Given the description of an element on the screen output the (x, y) to click on. 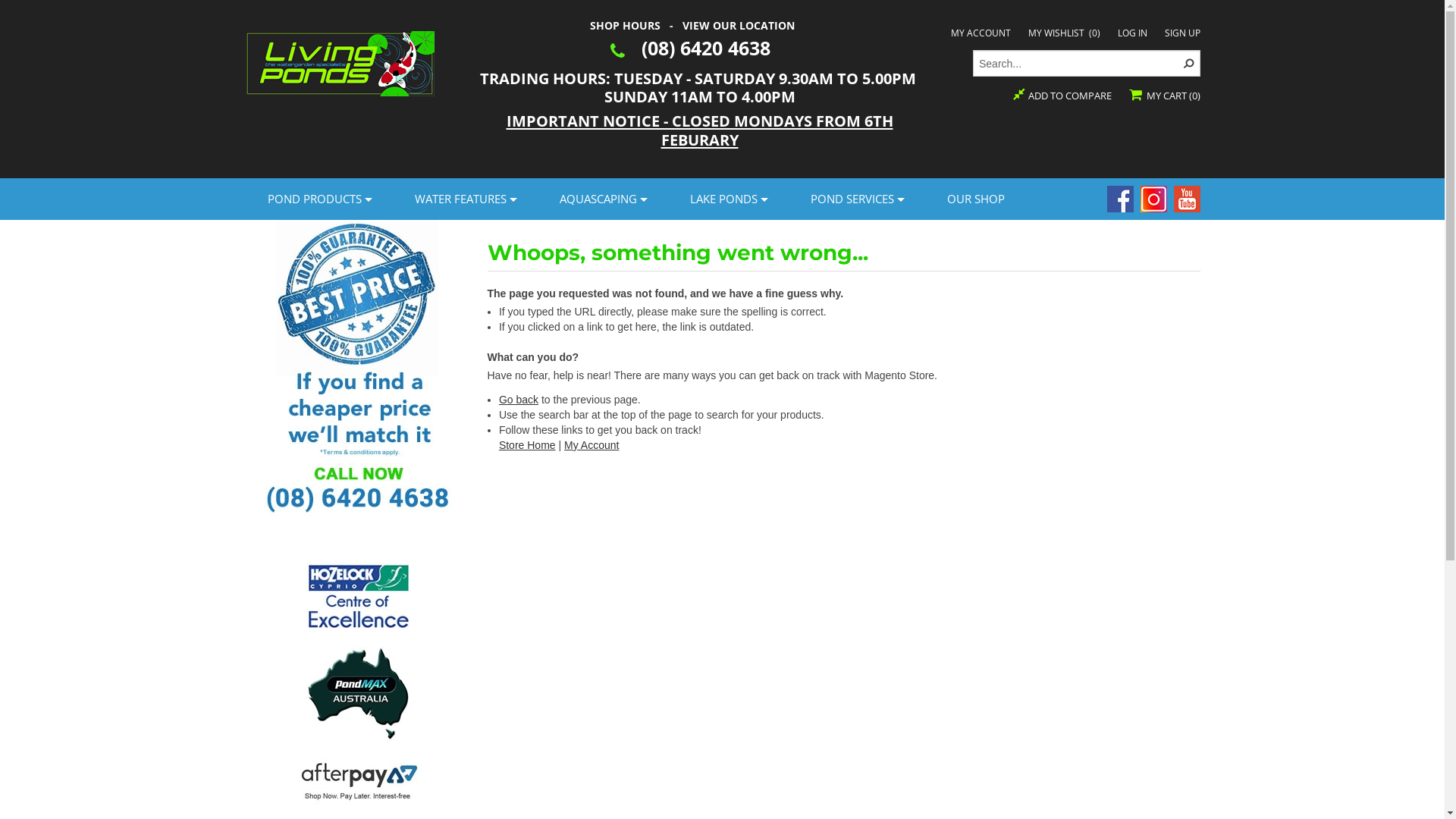
Living Ponds, Perth logo Element type: hover (338, 61)
MY ACCOUNT Element type: text (980, 32)
(08) 6420 4638 Element type: text (705, 47)
Go back Element type: text (518, 399)
OUR SHOP Element type: text (974, 198)
VIEW OUR LOCATION Element type: text (738, 25)
ADD TO COMPARE Element type: text (1062, 95)
Store Home Element type: text (526, 445)
AQUASCAPING Element type: text (601, 198)
MY WISHLIST  (0) Element type: text (1064, 32)
LAKE PONDS Element type: text (727, 198)
My Account Element type: text (591, 445)
SEARCH Element type: text (1186, 63)
LOG IN Element type: text (1132, 32)
WATER FEATURES Element type: text (463, 198)
Click or tap to view more Element type: hover (357, 779)
POND SERVICES Element type: text (855, 198)
POND PRODUCTS Element type: text (317, 198)
  MY CART (0) Element type: text (1163, 95)
SIGN UP Element type: text (1182, 32)
